Given the description of an element on the screen output the (x, y) to click on. 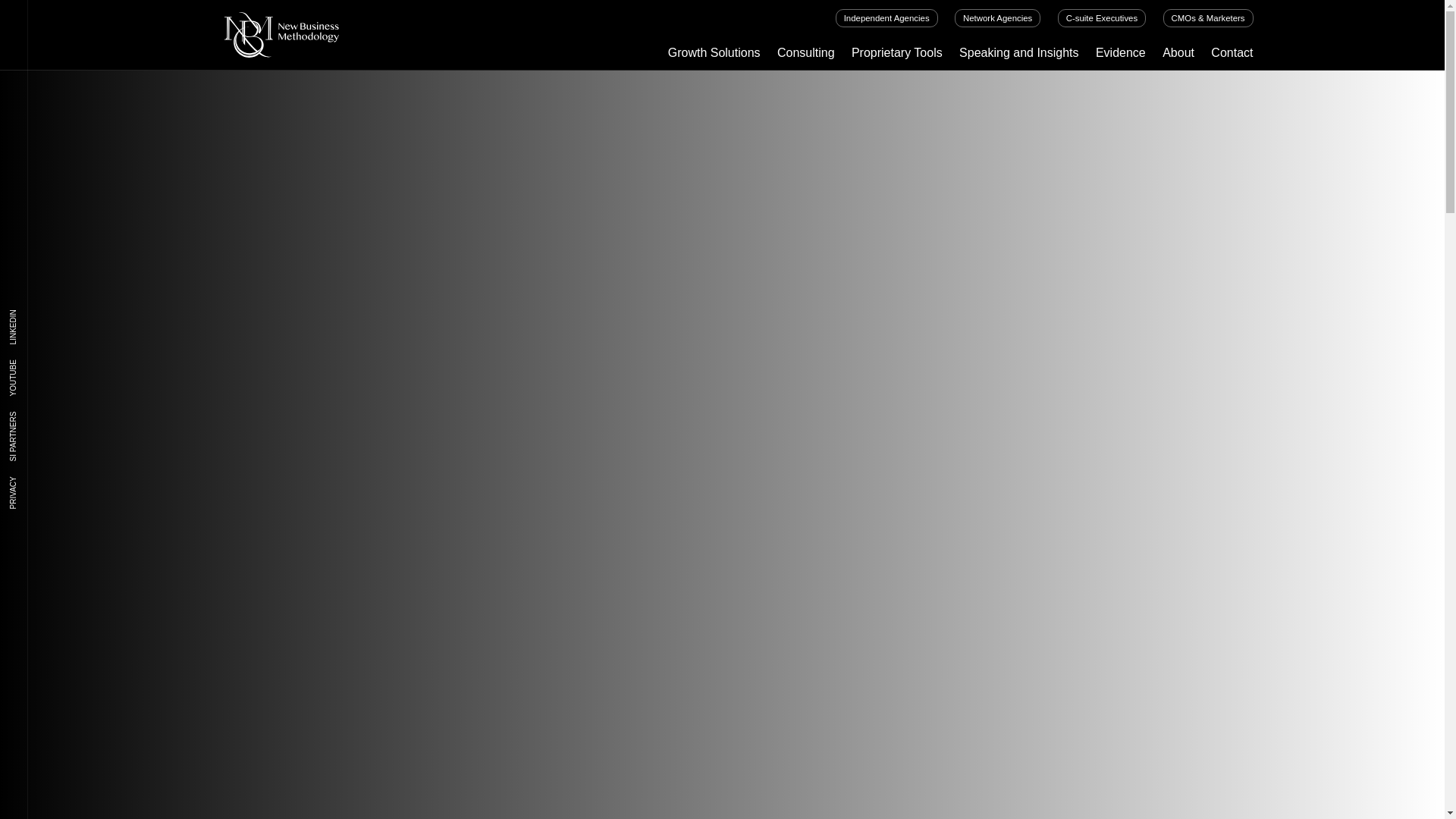
C-suite Executives (1101, 18)
Growth Solutions (714, 53)
Independent Agencies (886, 18)
Network Agencies (998, 18)
